Given the description of an element on the screen output the (x, y) to click on. 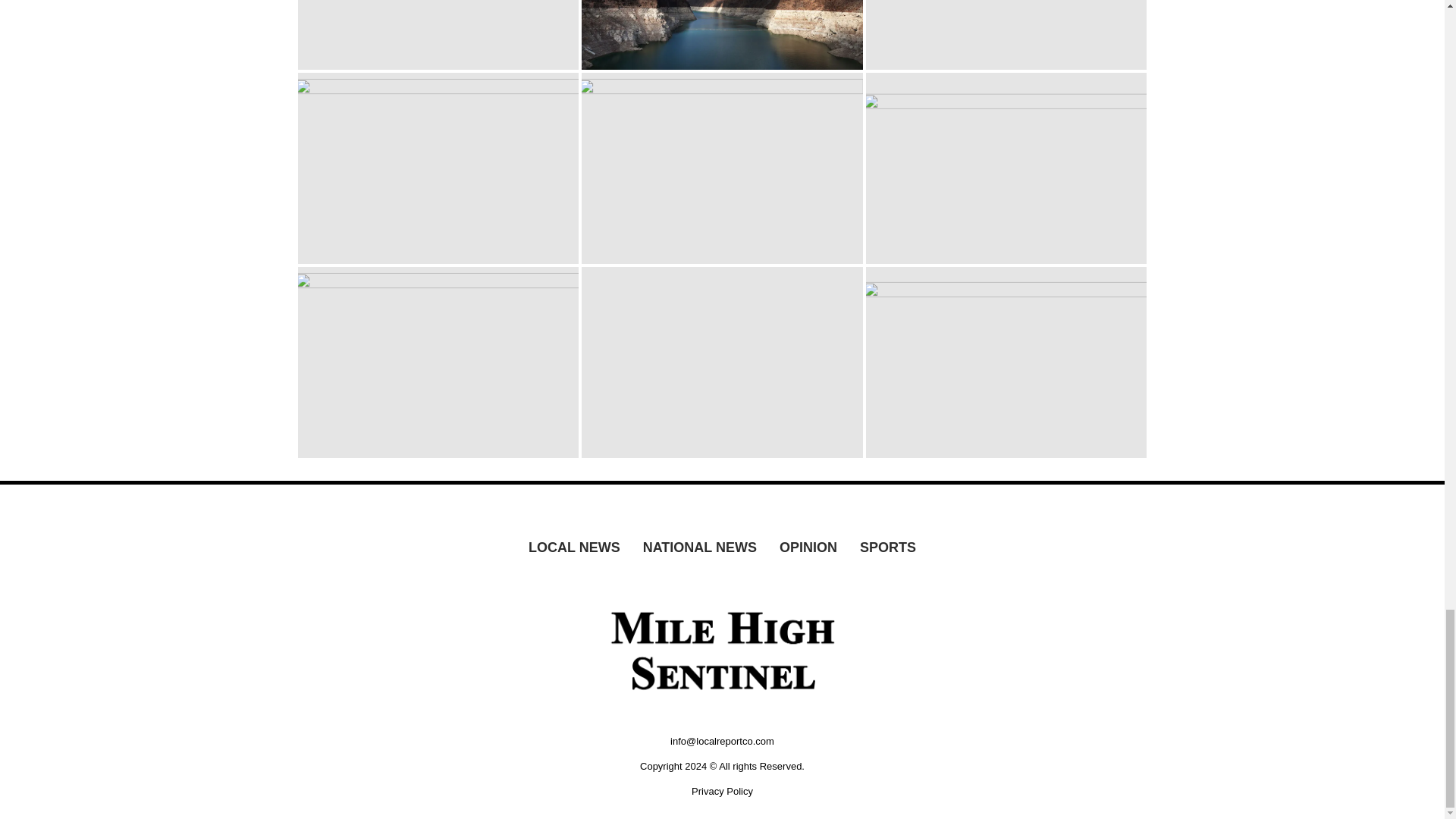
SPORTS (887, 547)
NATIONAL NEWS (699, 547)
OPINION (808, 547)
LOCAL NEWS (573, 547)
